Given the description of an element on the screen output the (x, y) to click on. 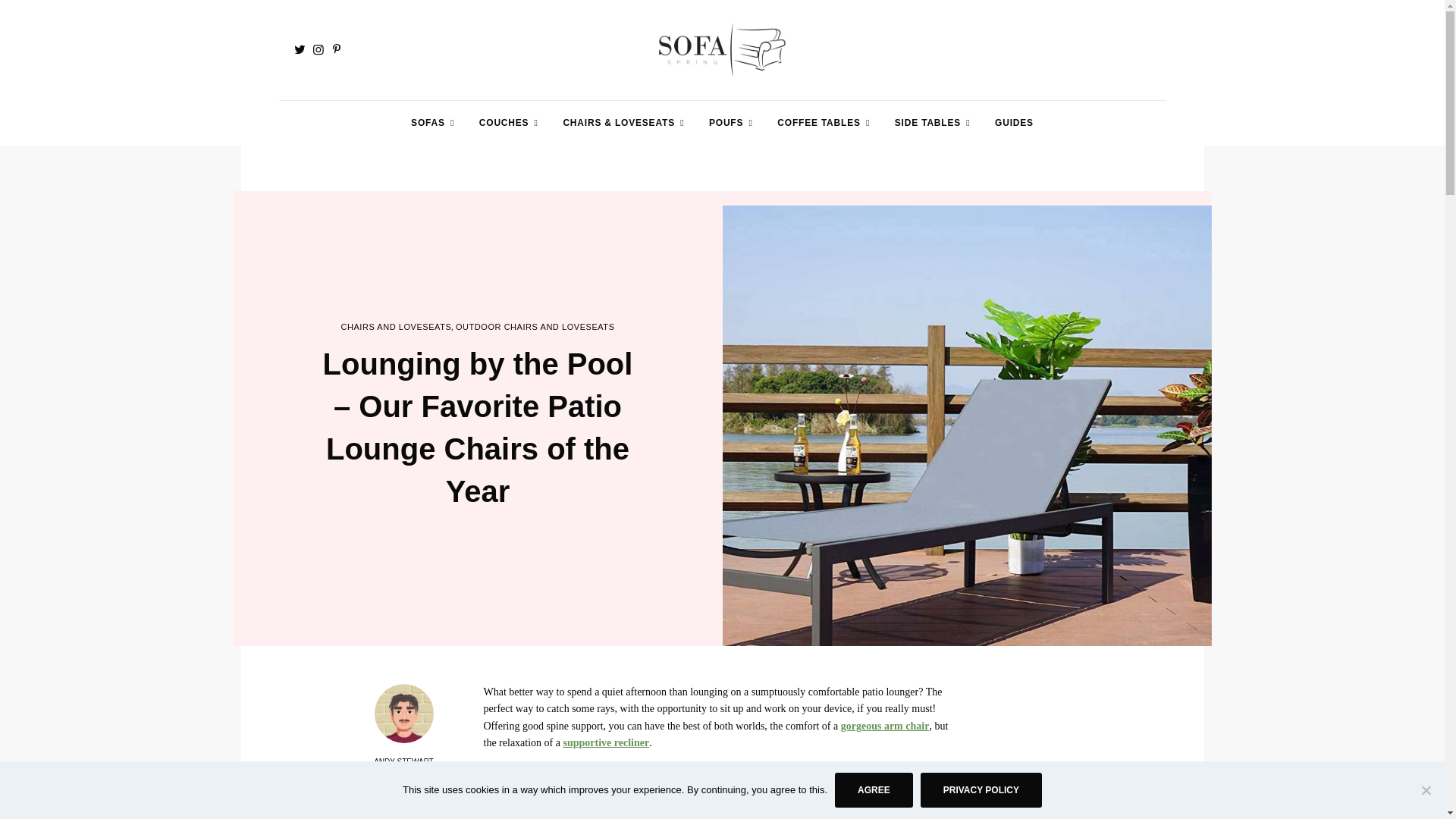
POUFS (727, 123)
COUCHES (506, 123)
No (1425, 789)
SOFAS (430, 123)
COFFEE TABLES (820, 123)
GUIDES (1013, 123)
SIDE TABLES (929, 123)
OUTDOOR CHAIRS AND LOVESEATS (534, 326)
CHAIRS AND LOVESEATS (395, 326)
